Given the description of an element on the screen output the (x, y) to click on. 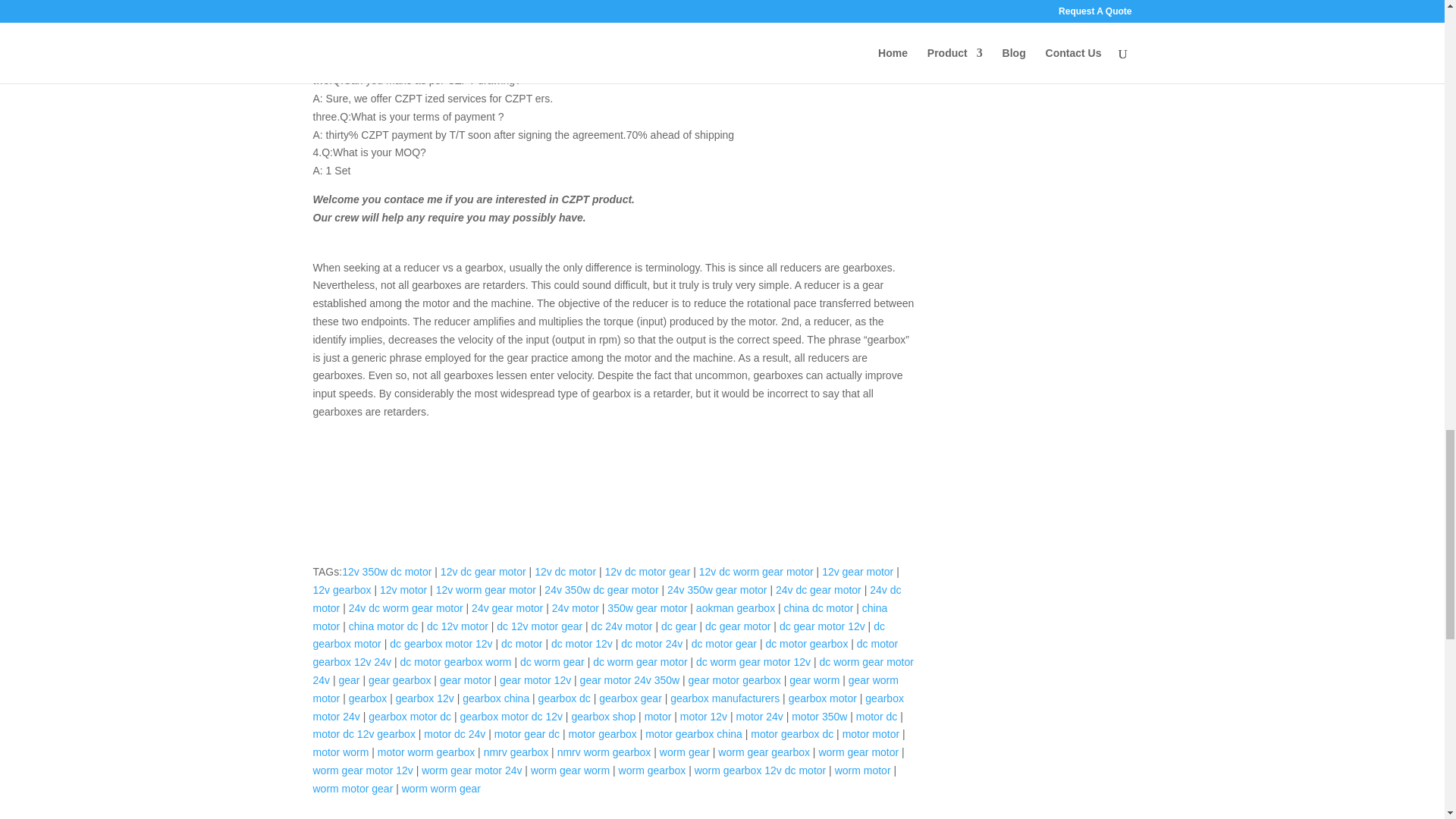
aokman gearbox (734, 607)
24v motor (574, 607)
24v dc worm gear motor (406, 607)
12v dc motor (564, 571)
12v dc worm gear motor (755, 571)
china motor dc (384, 625)
12v dc gear motor (483, 571)
12v motor (403, 589)
24v dc motor (607, 598)
dc 12v motor gear (539, 625)
